Given the description of an element on the screen output the (x, y) to click on. 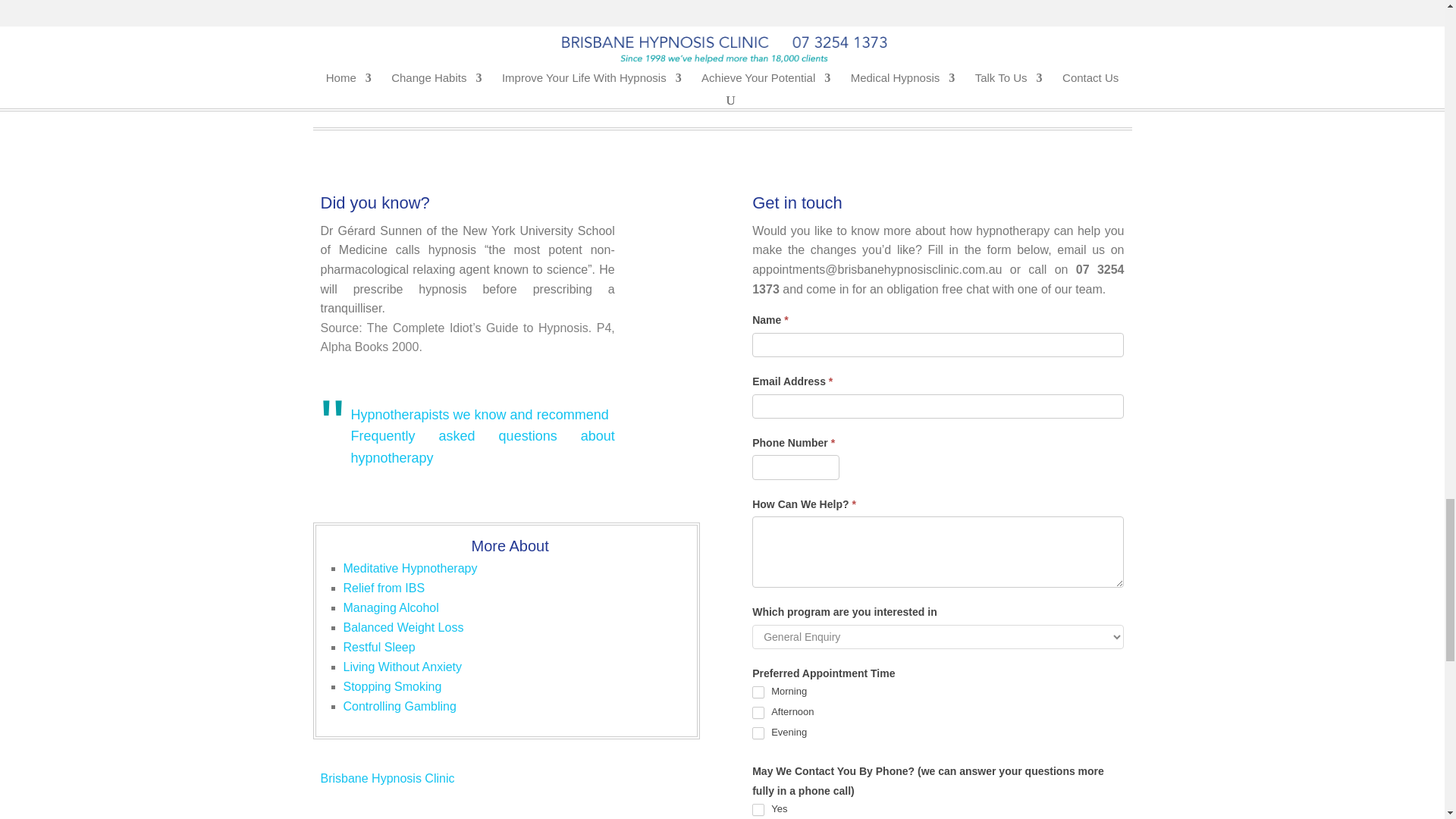
Afternoon (758, 712)
Morning (758, 692)
Yes (758, 809)
Evening (758, 732)
